Given the description of an element on the screen output the (x, y) to click on. 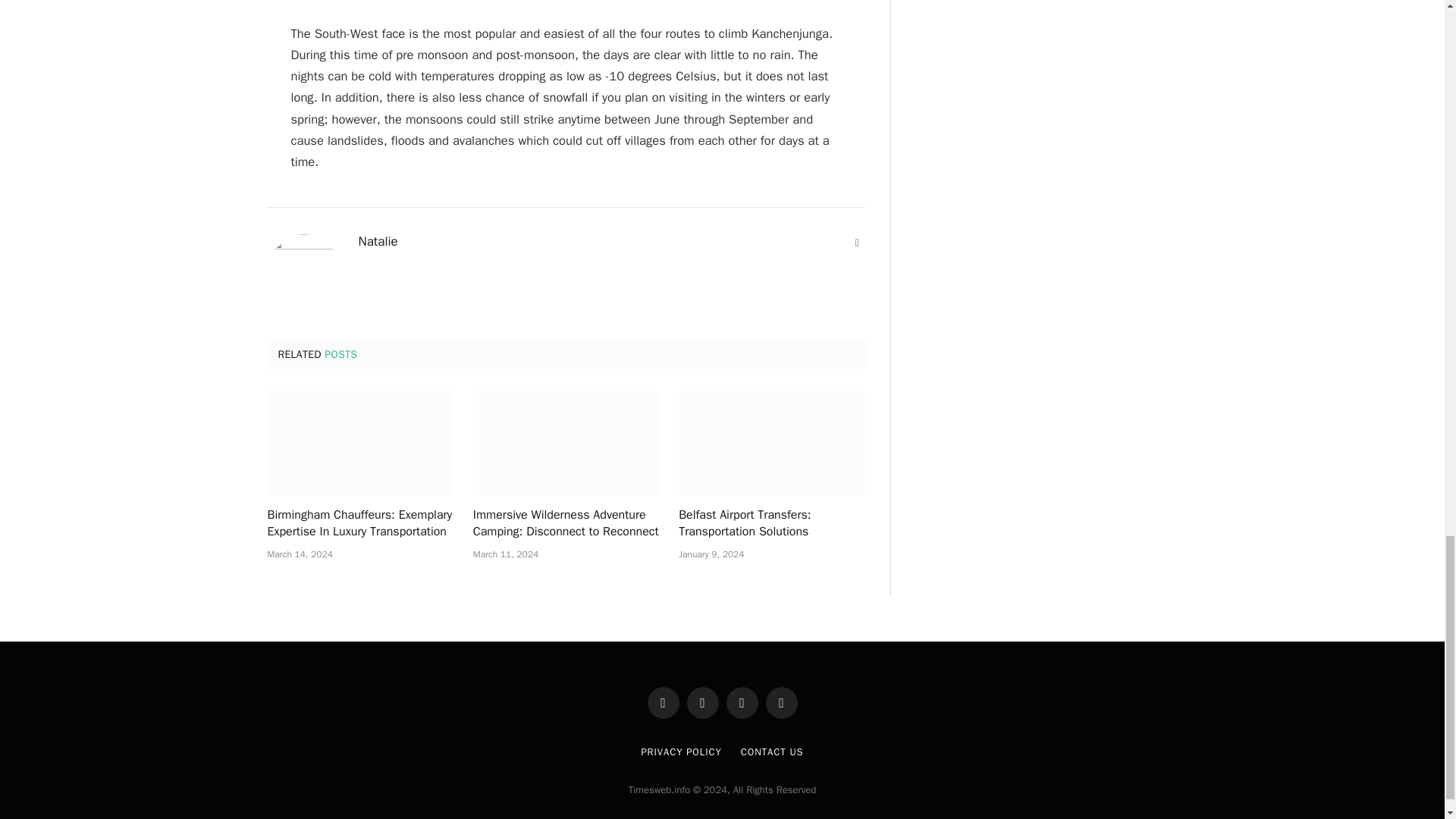
Posts by Natalie (377, 241)
Website (856, 242)
Belfast Airport Transfers: Transportation Solutions  (771, 523)
Website (856, 242)
Natalie (377, 241)
